Given the description of an element on the screen output the (x, y) to click on. 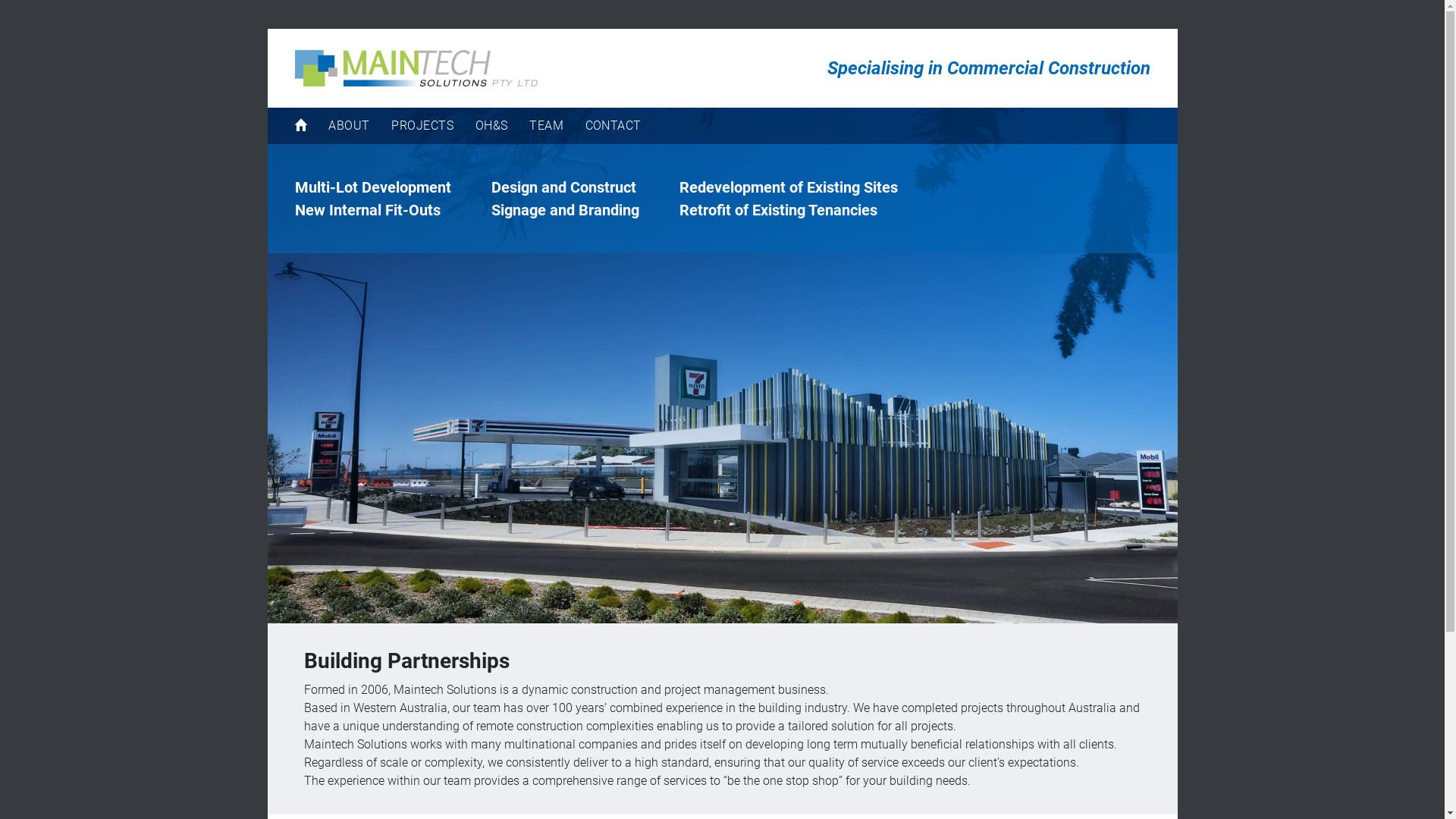
TEAM Element type: text (546, 125)
HOME Element type: text (300, 125)
OH&S Element type: text (491, 125)
ABOUT Element type: text (348, 125)
CONTACT Element type: text (613, 125)
PROJECTS Element type: text (422, 125)
